Given the description of an element on the screen output the (x, y) to click on. 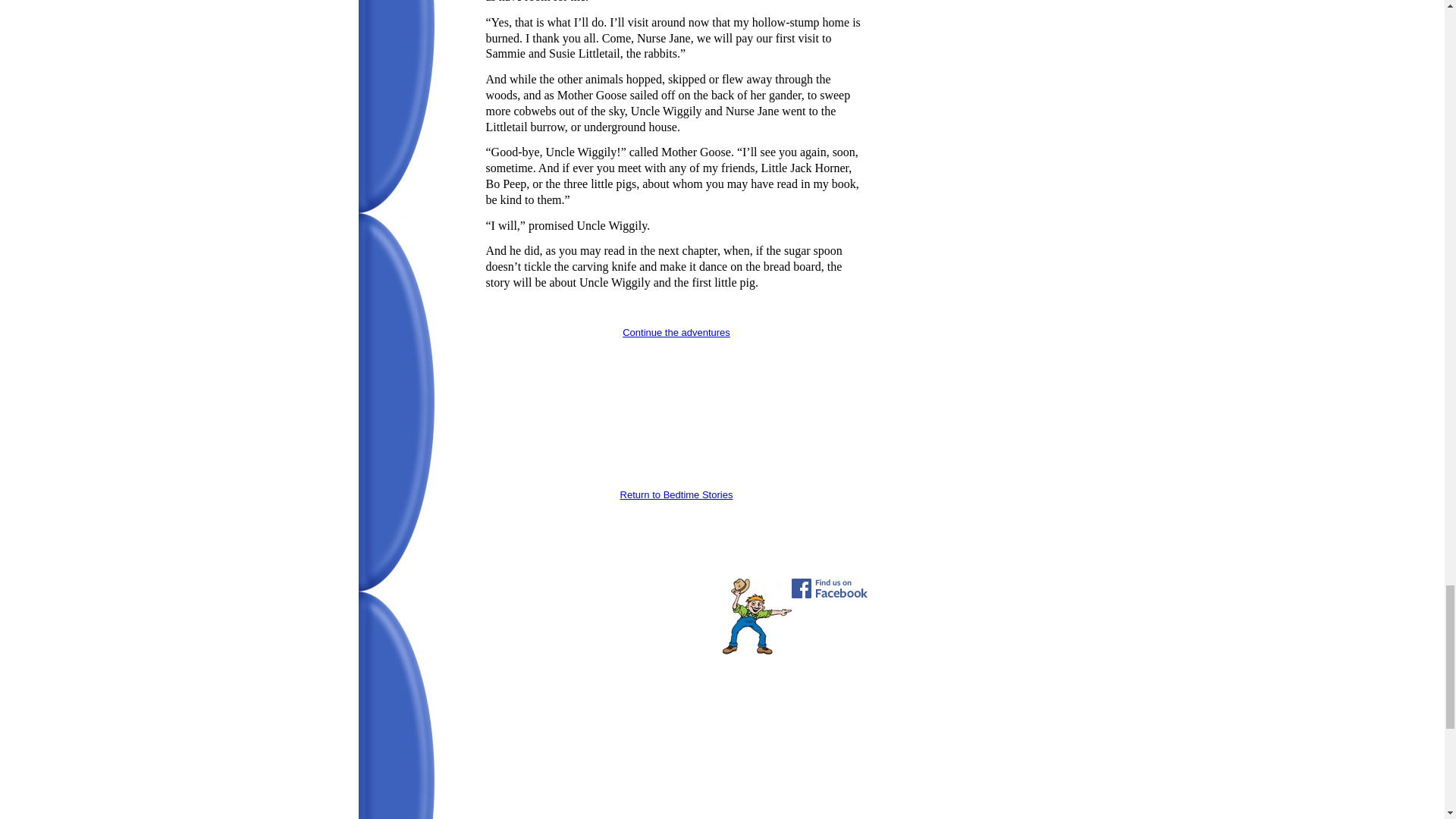
Return to Bedtime Stories (676, 494)
Continue the adventures (676, 331)
